Given the description of an element on the screen output the (x, y) to click on. 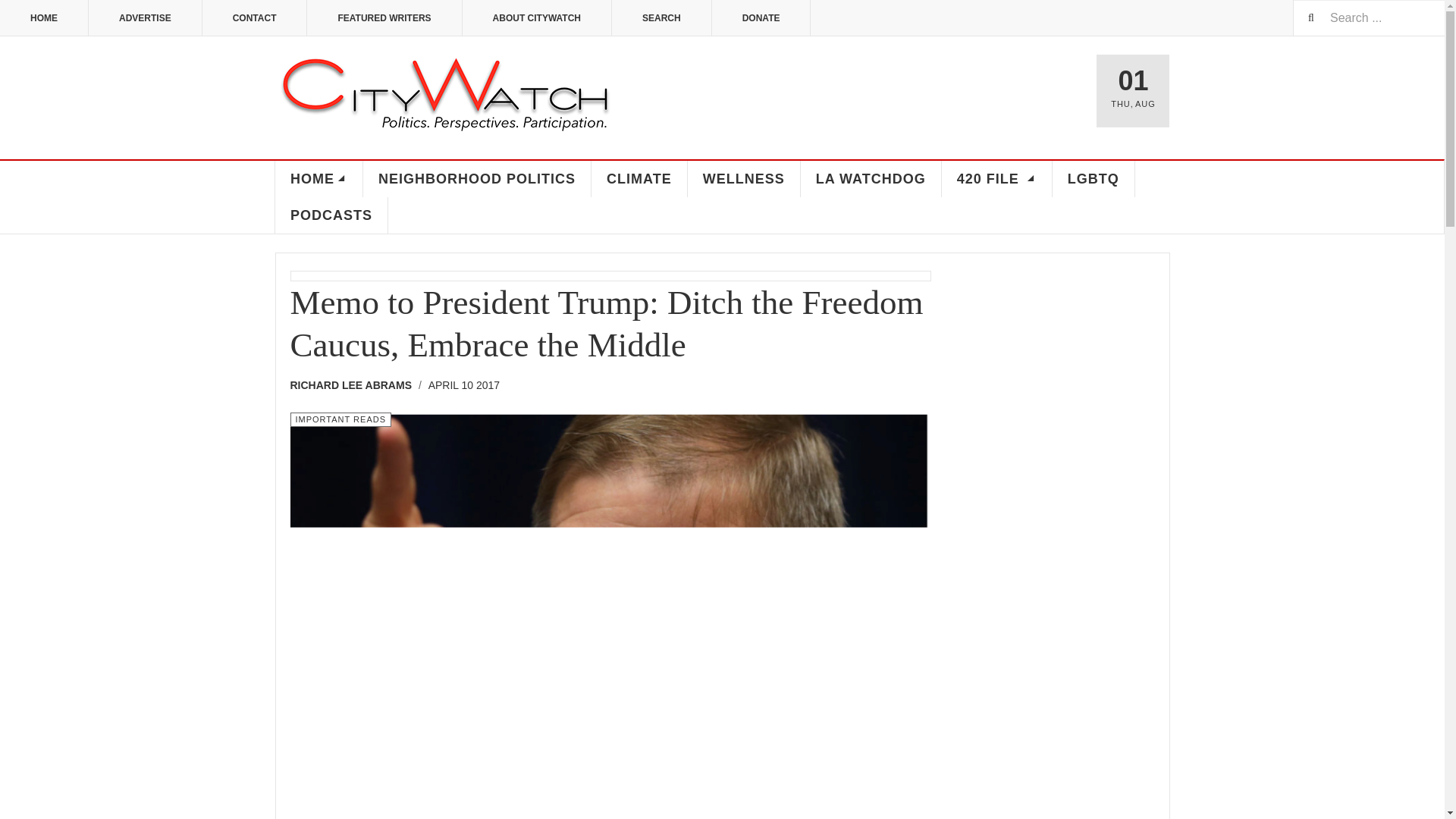
ADVERTISE (145, 18)
Category:  (340, 419)
DONATE (760, 18)
CLIMATE (639, 178)
LA WATCHDOG (871, 178)
LGBTQ (1093, 178)
CityWatch Los Angeles (445, 94)
NEIGHBORHOOD POLITICS (476, 178)
ABOUT CITYWATCH (537, 18)
WELLNESS (743, 178)
